Given the description of an element on the screen output the (x, y) to click on. 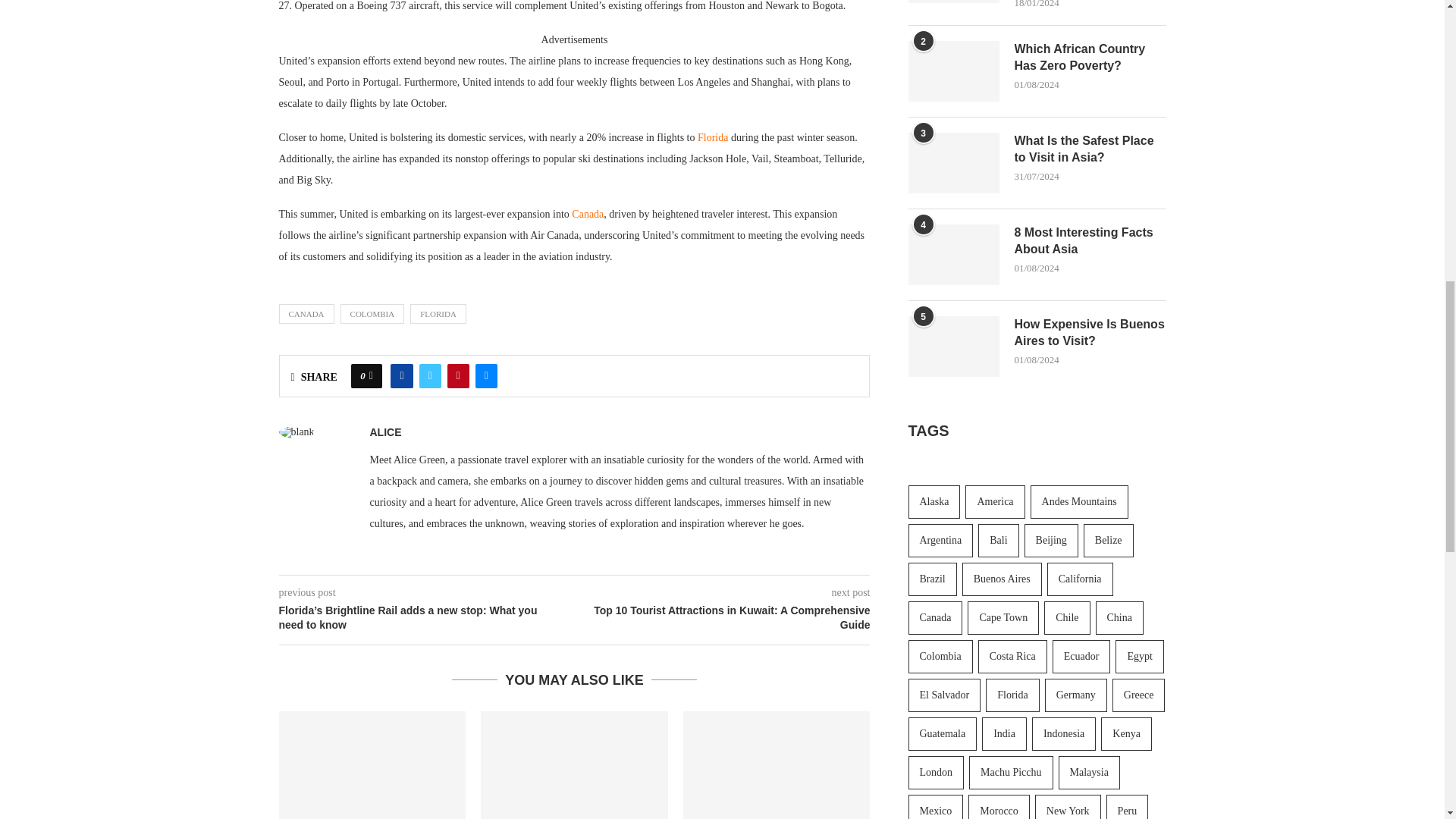
Luxury Waterfront Suites Just an Hour from Boston (776, 765)
Author Alice (385, 431)
